Given the description of an element on the screen output the (x, y) to click on. 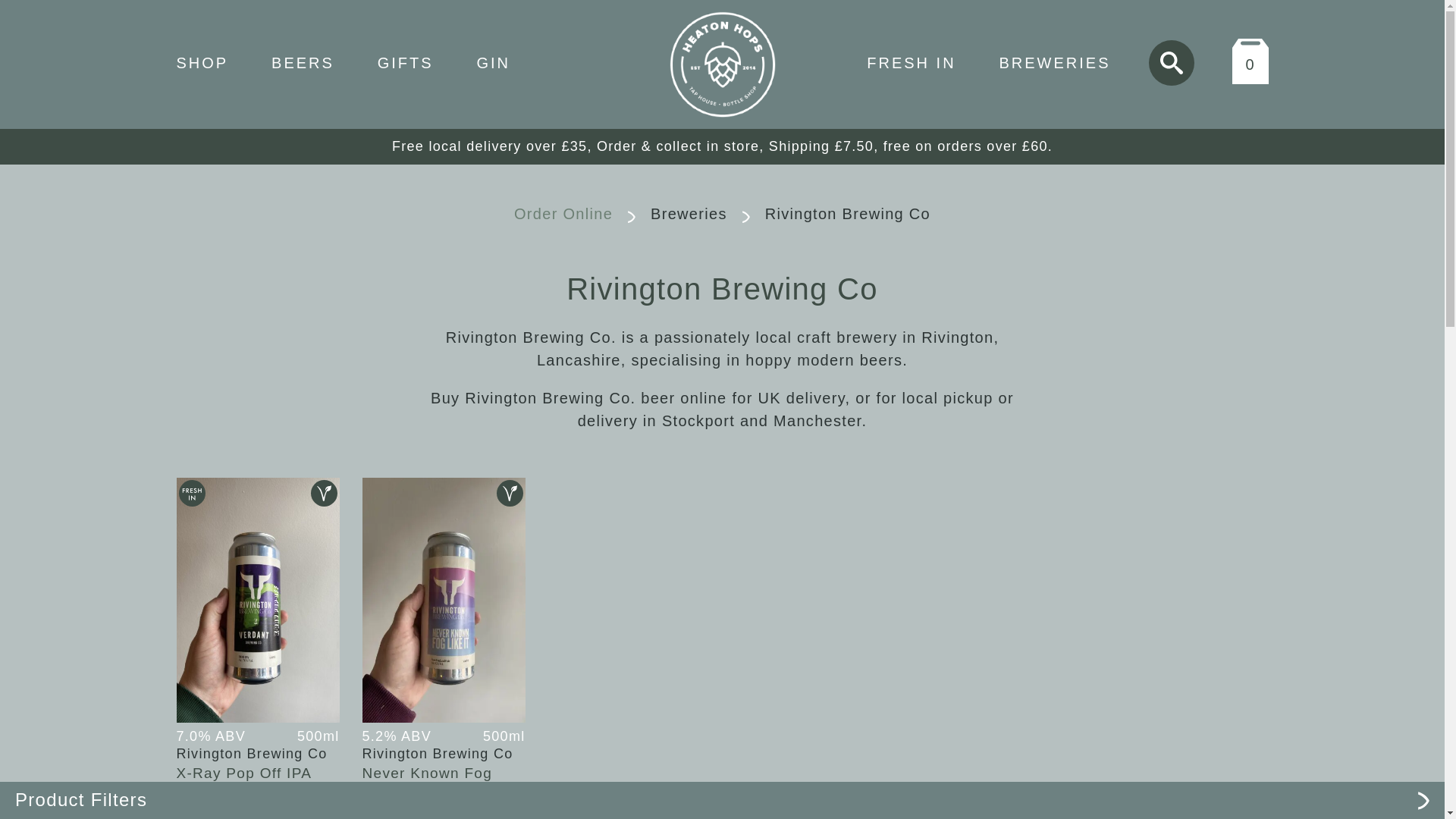
SEARCH (1170, 62)
BEERS (302, 62)
BREWERIES (1053, 62)
GIN (493, 62)
Order Online (562, 213)
SHOP (202, 62)
FRESH IN (910, 62)
GIFTS (405, 62)
